Given the description of an element on the screen output the (x, y) to click on. 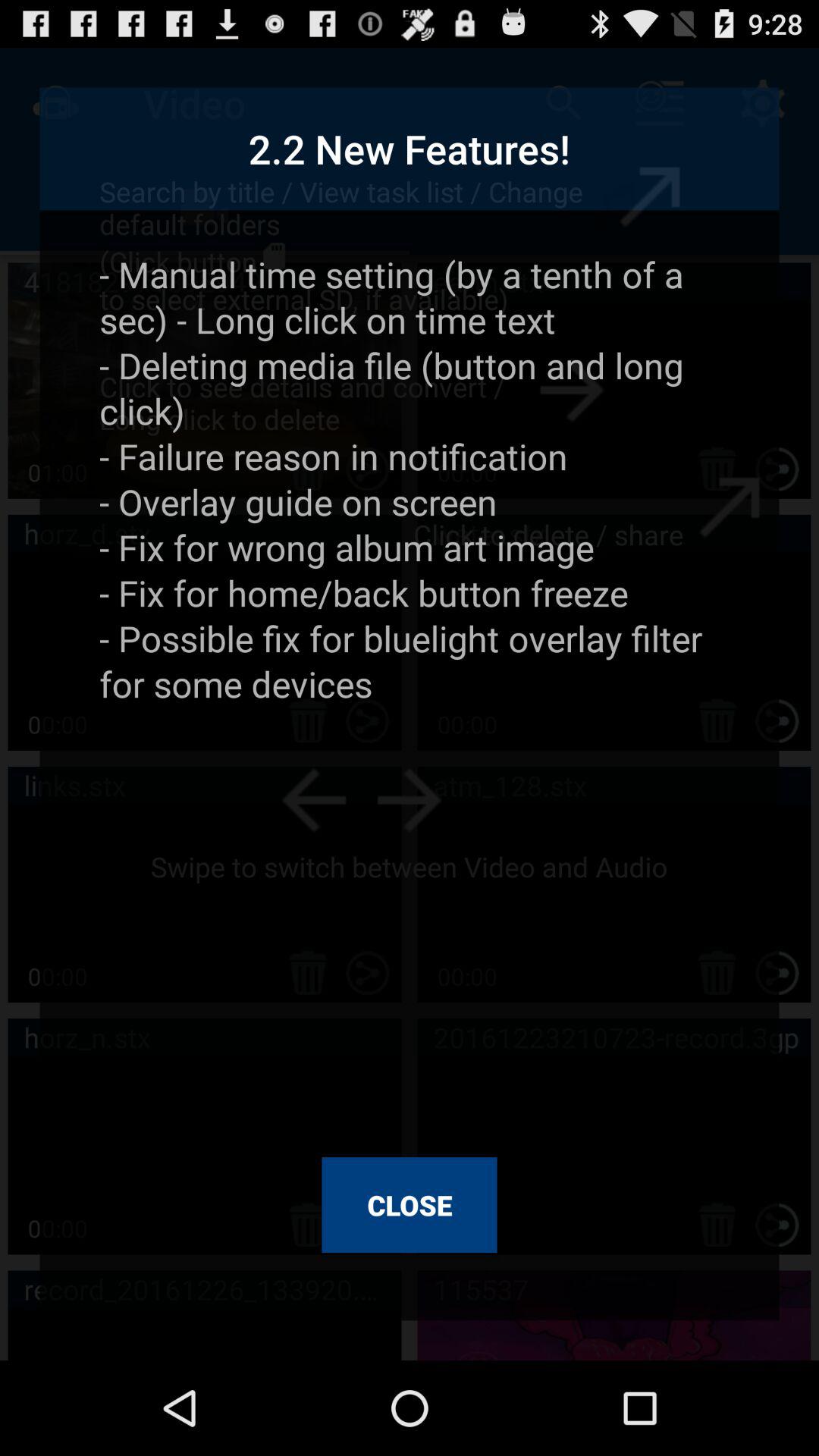
tap the icon below the 2 2 new item (409, 693)
